Given the description of an element on the screen output the (x, y) to click on. 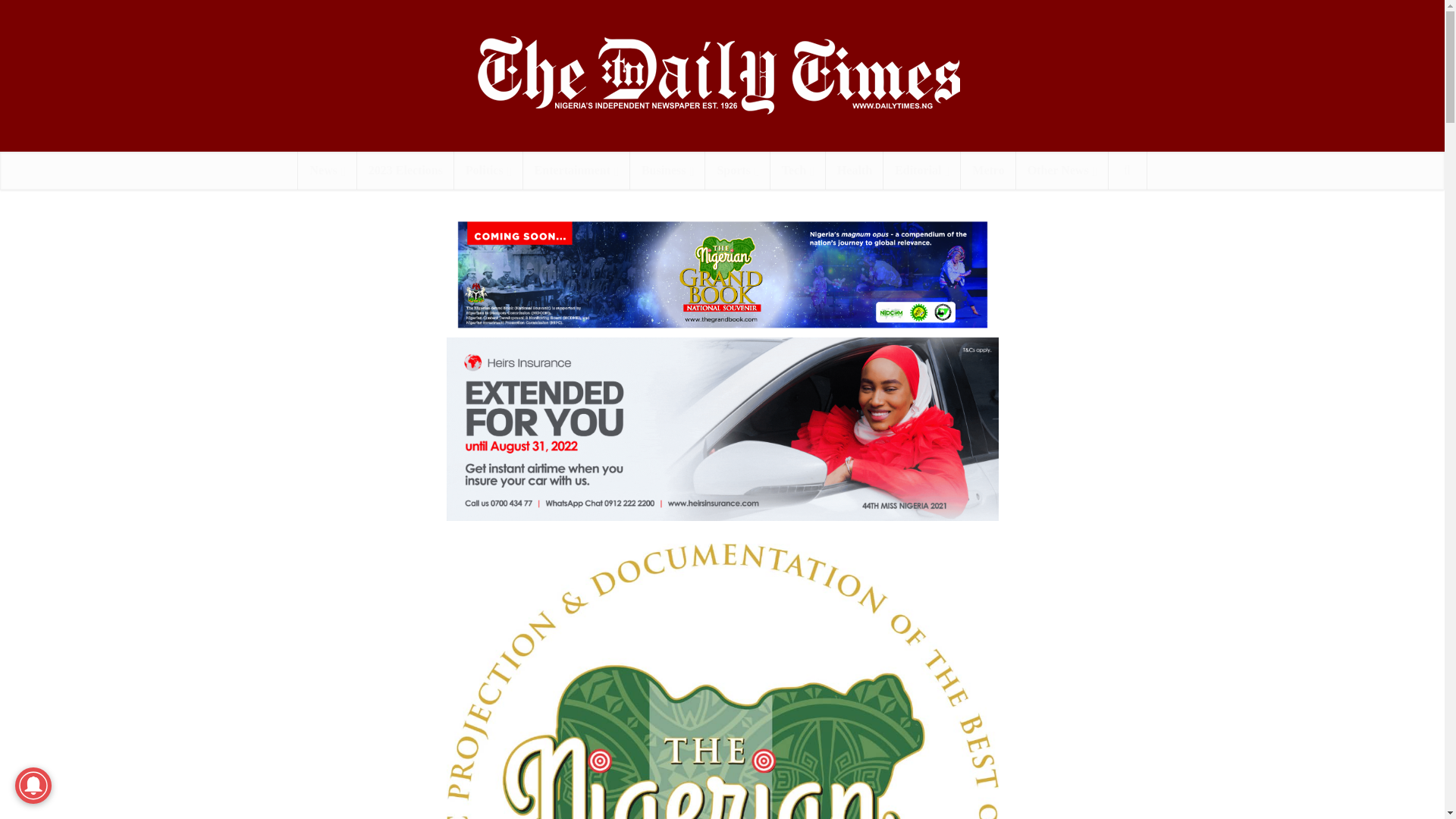
2023 Elections (405, 170)
Politics (488, 170)
News (327, 170)
